Given the description of an element on the screen output the (x, y) to click on. 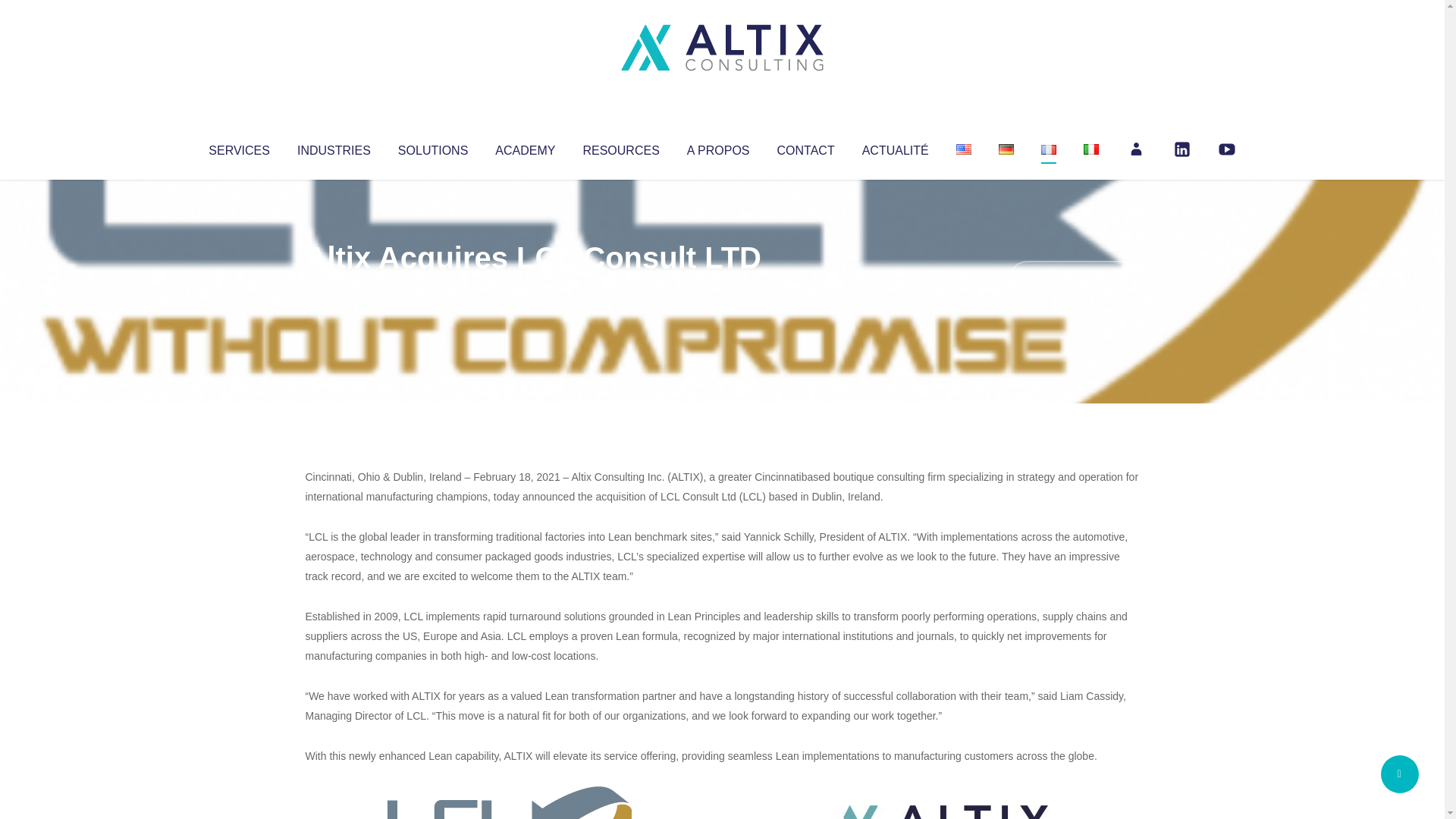
Articles par Altix (333, 287)
ACADEMY (524, 146)
RESOURCES (620, 146)
INDUSTRIES (334, 146)
Altix (333, 287)
A PROPOS (718, 146)
Uncategorized (530, 287)
SERVICES (238, 146)
SOLUTIONS (432, 146)
No Comments (1073, 278)
